Given the description of an element on the screen output the (x, y) to click on. 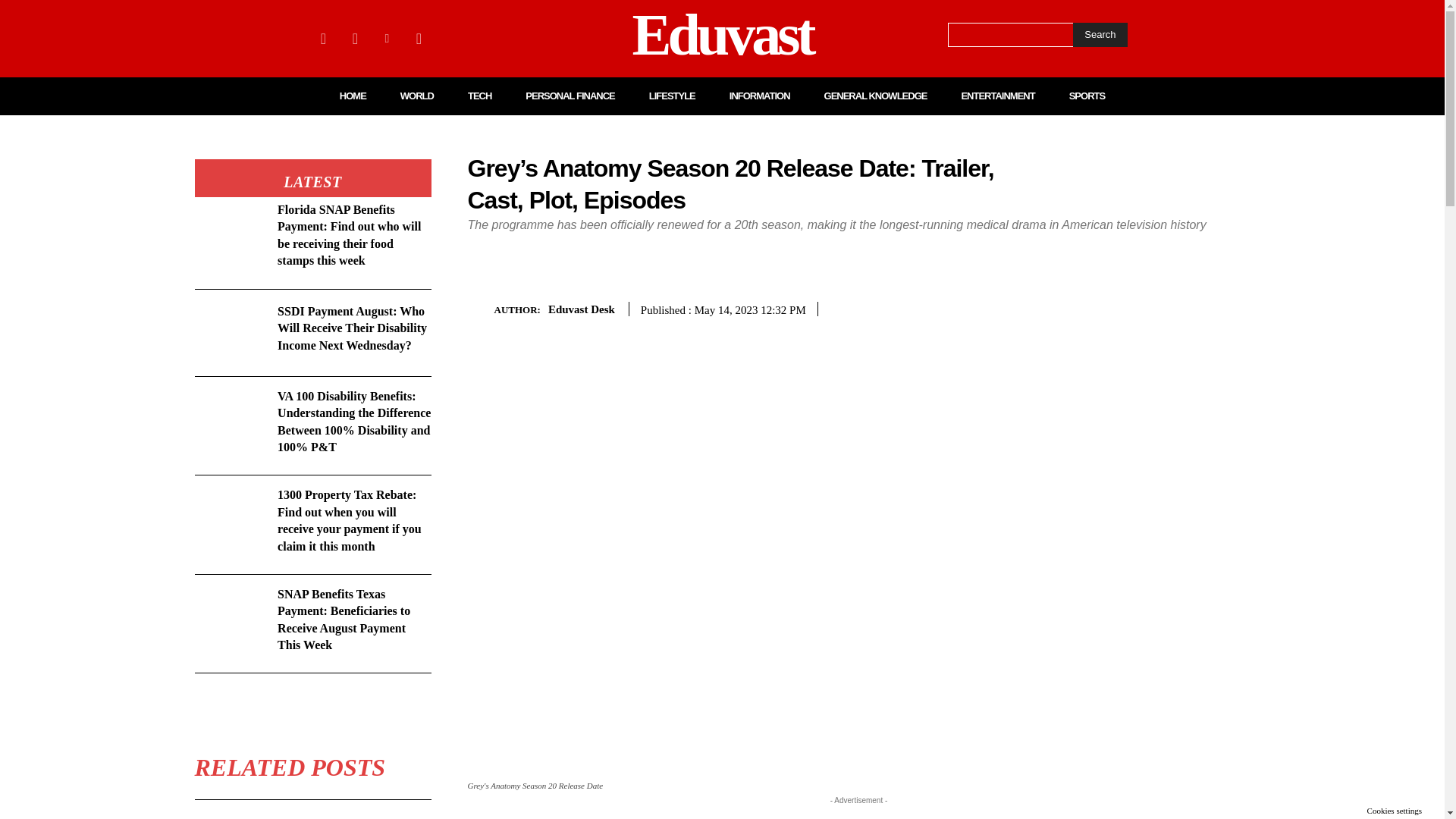
Twitter (418, 38)
Instagram (354, 38)
GENERAL KNOWLEDGE (875, 95)
Linkedin (386, 38)
Facebook (322, 38)
